Given the description of an element on the screen output the (x, y) to click on. 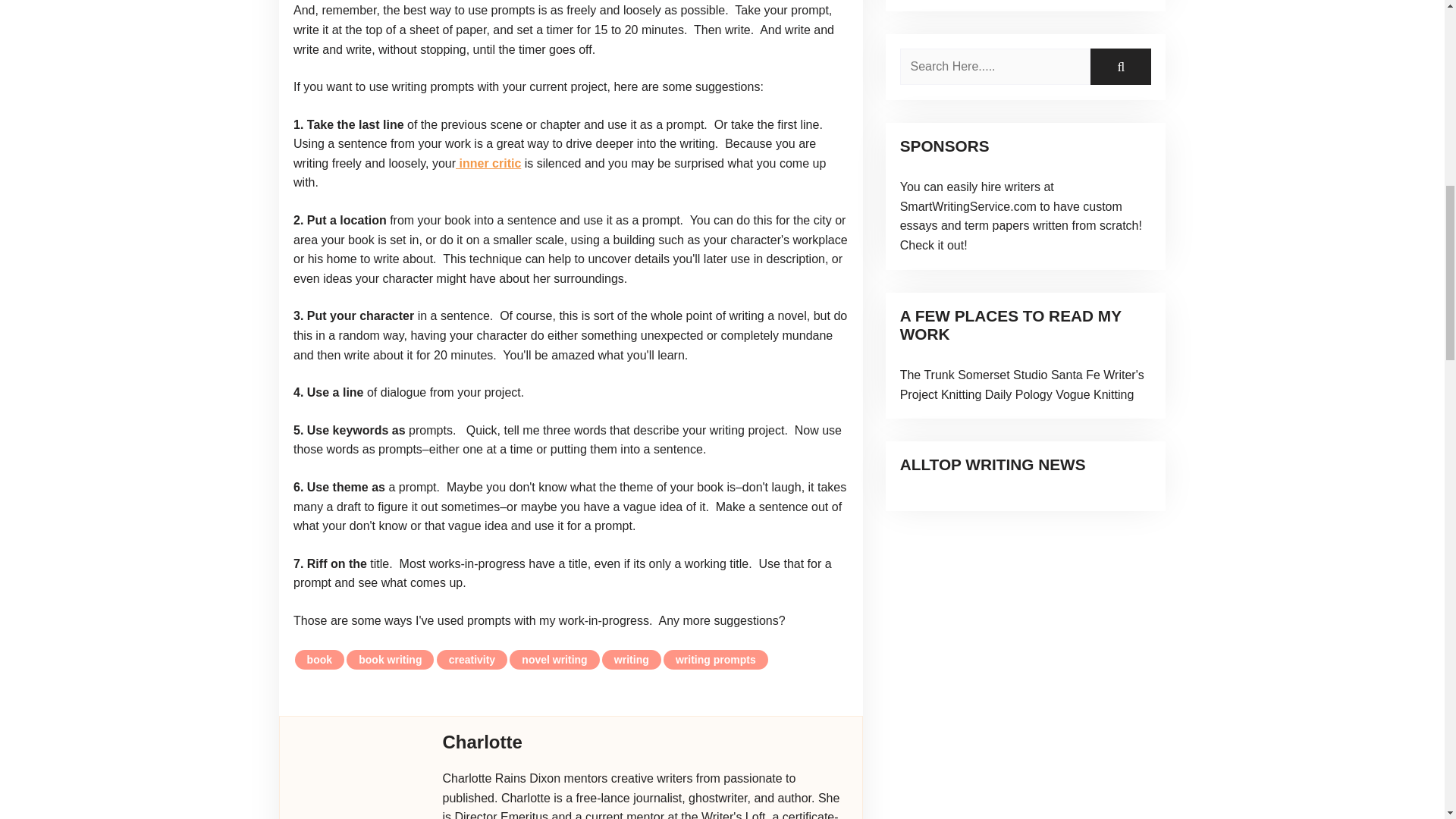
book writing (389, 659)
book (319, 659)
inner critic (488, 163)
novel writing (553, 659)
writing (631, 659)
creativity (471, 659)
writing prompts (715, 659)
writing critic (488, 163)
